Given the description of an element on the screen output the (x, y) to click on. 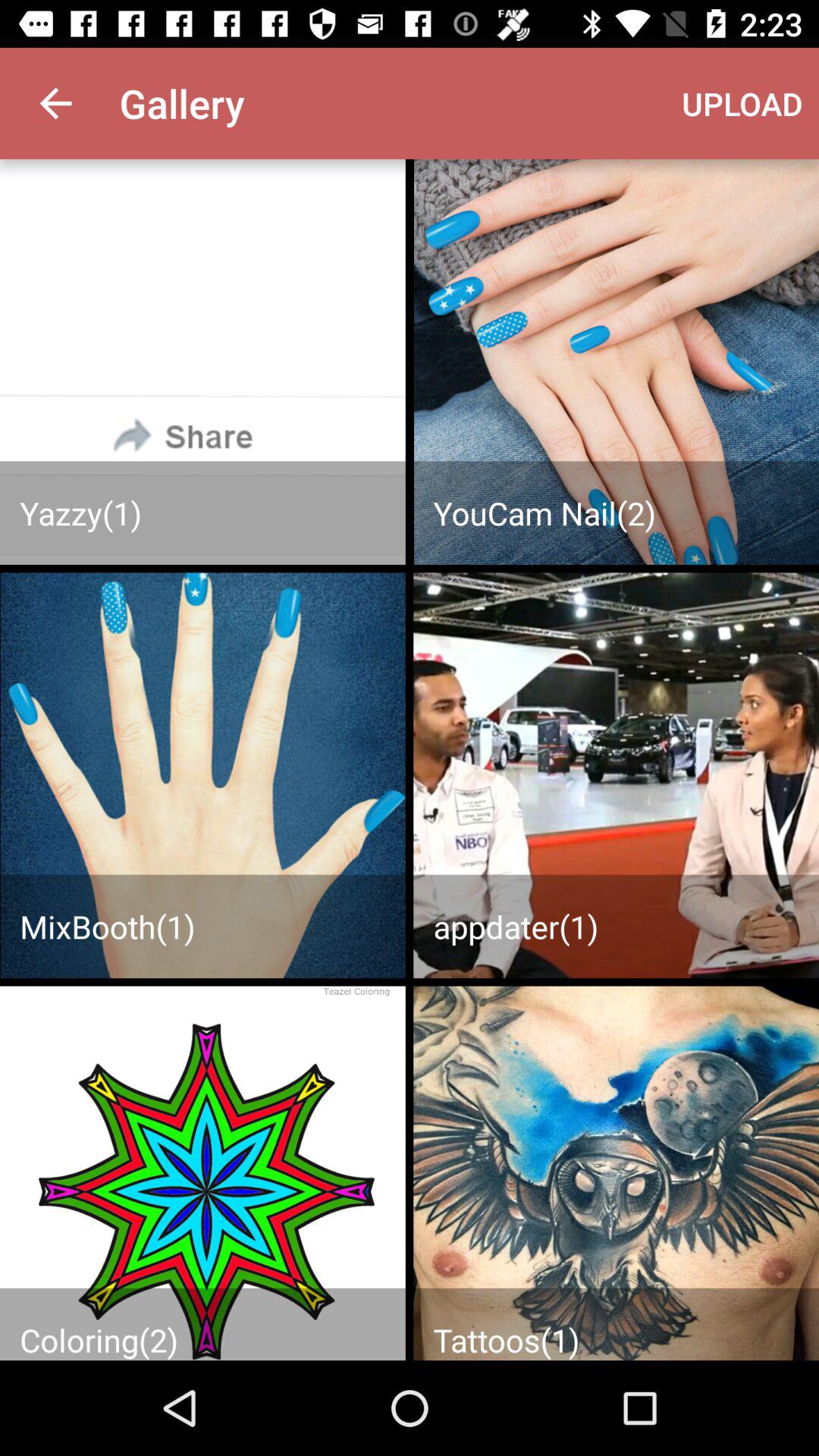
toggle upload option (616, 361)
